Given the description of an element on the screen output the (x, y) to click on. 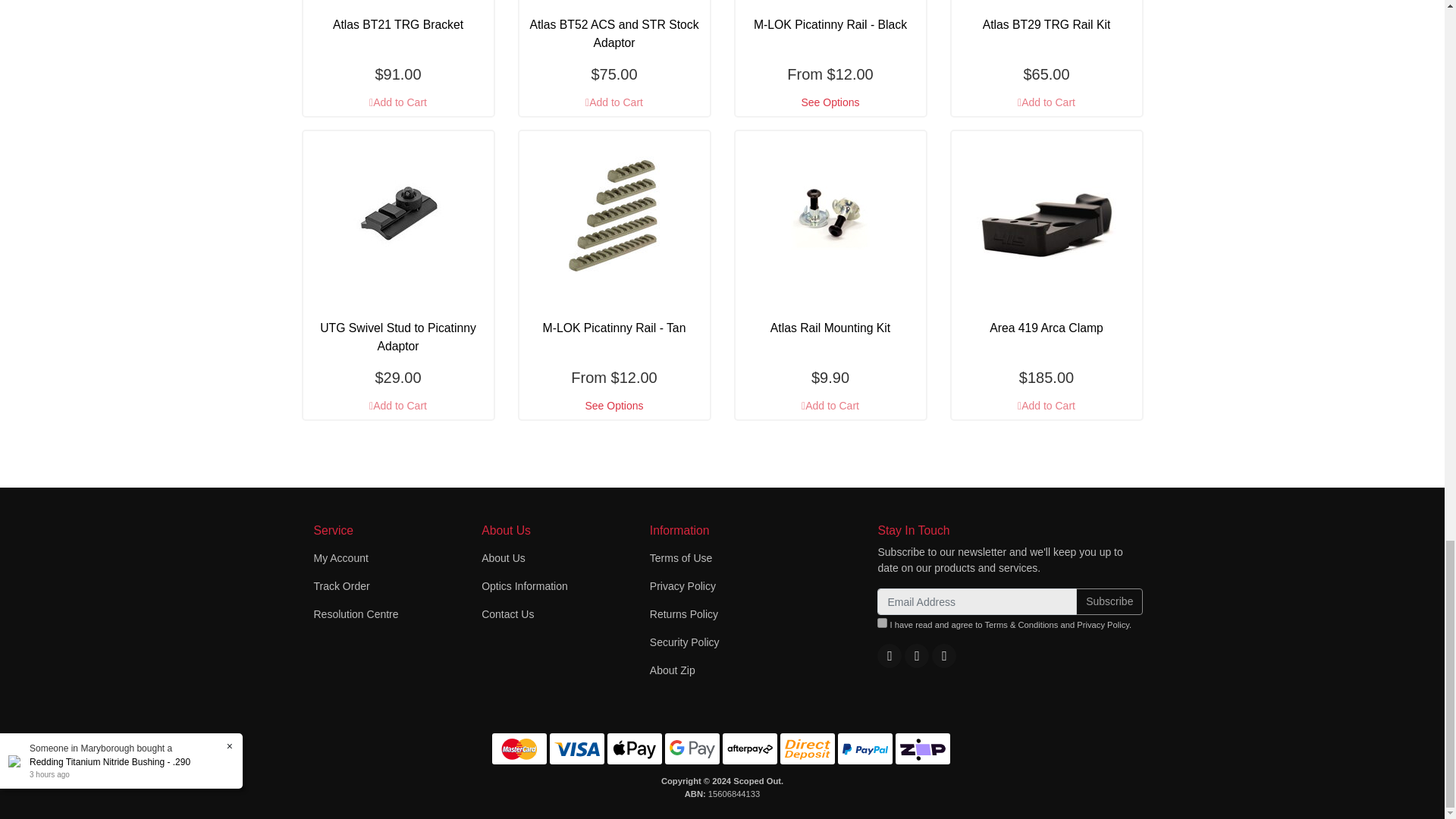
Scoped Out on Youtube (916, 655)
View M-LOK Picatinny Rail - Tan Buying Options (613, 406)
Add Atlas BT52 ACS and STR Stock Adaptor to Cart (613, 102)
y (881, 623)
Add Area 419 Arca Clamp to Cart (1045, 406)
Subscribe (1108, 601)
Add Atlas BT29 TRG Rail Kit to Cart (1045, 102)
Add Atlas Rail Mounting Kit to Cart (830, 406)
Scoped Out on Facebook (889, 655)
Add UTG Swivel Stud to Picatinny Adaptor to Cart (397, 406)
Add Atlas BT21 TRG Bracket to Cart (397, 102)
View M-LOK Picatinny Rail - Black Buying Options (830, 102)
